Given the description of an element on the screen output the (x, y) to click on. 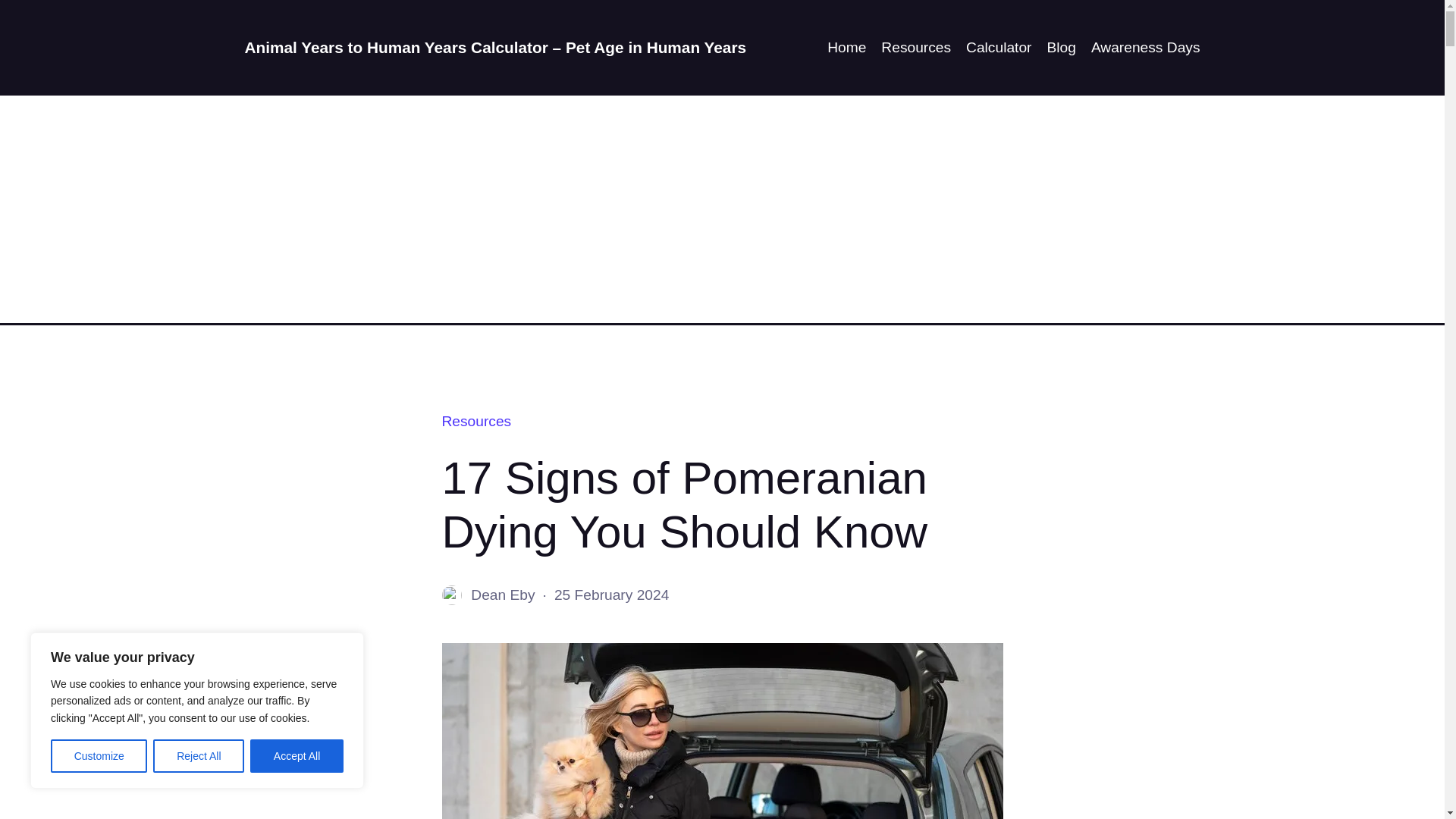
Customize (98, 756)
Resources (915, 47)
Calculator (998, 47)
Blog (1060, 47)
Resources (476, 421)
Home (846, 47)
Awareness Days (1144, 47)
Reject All (198, 756)
Accept All (296, 756)
